Given the description of an element on the screen output the (x, y) to click on. 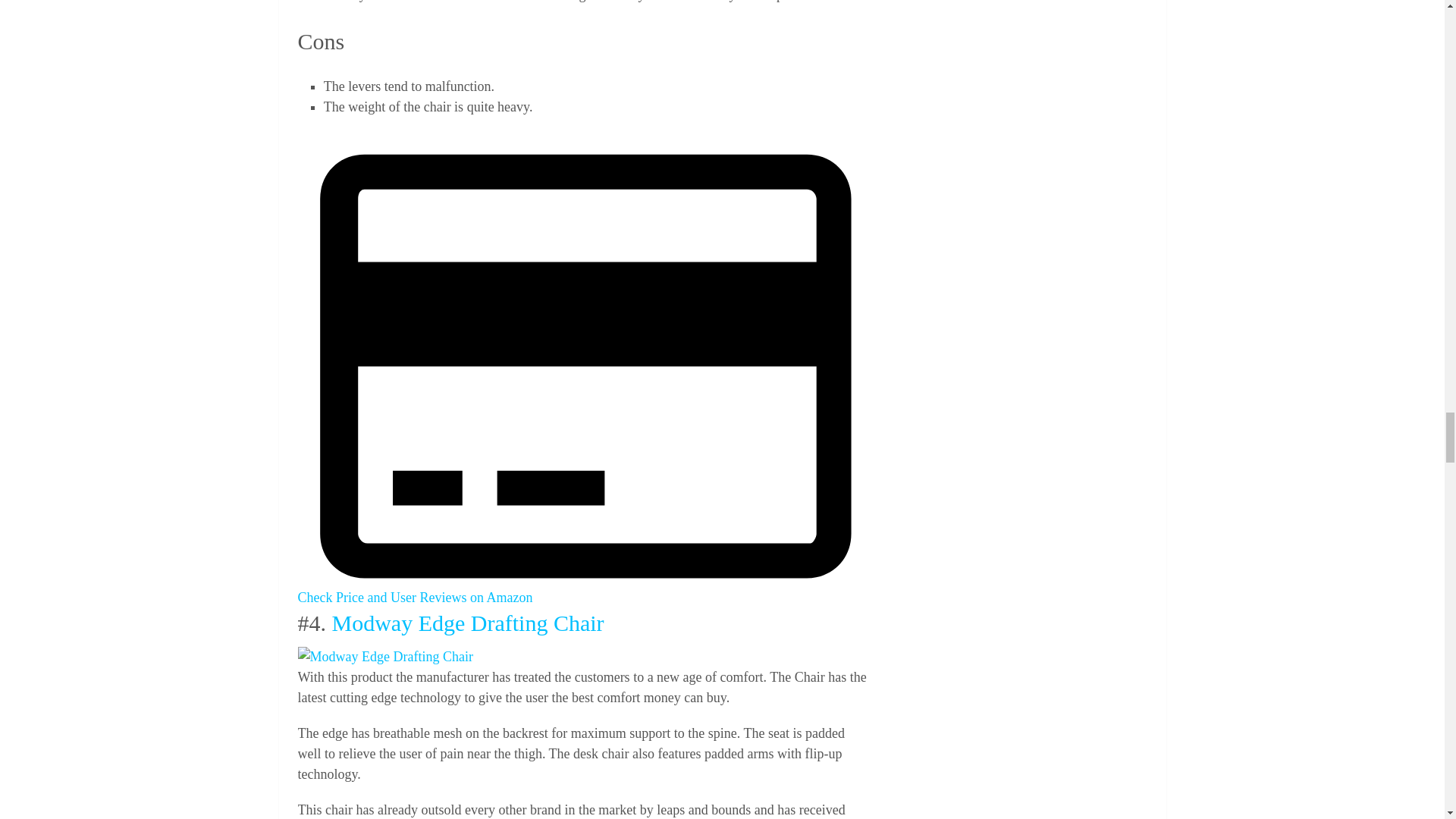
Modway Edge Drafting Chair (384, 657)
